Given the description of an element on the screen output the (x, y) to click on. 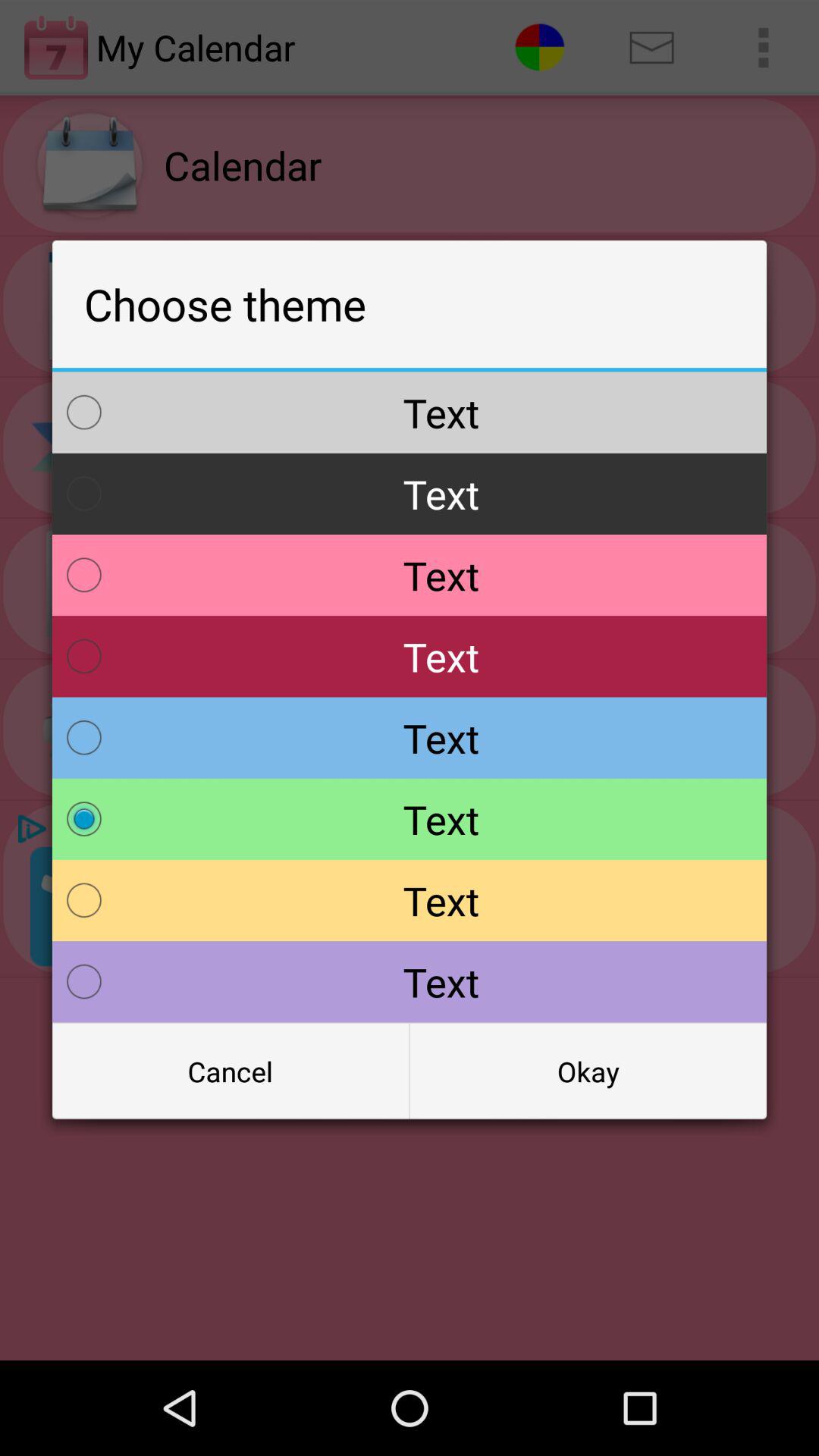
scroll to okay button (588, 1071)
